Given the description of an element on the screen output the (x, y) to click on. 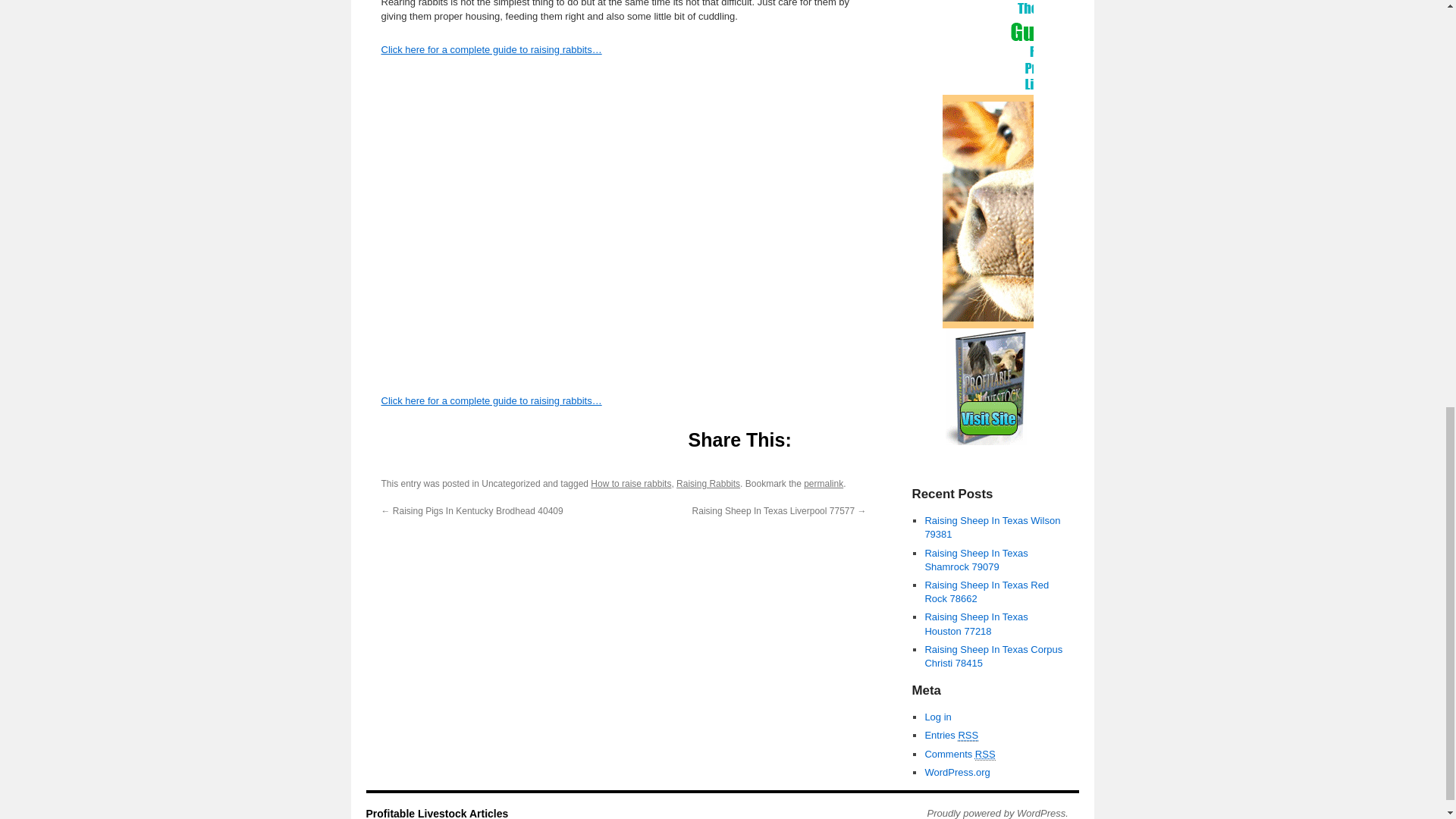
Really Simple Syndication (985, 754)
Raising Rabbits (708, 483)
permalink (823, 483)
Really Simple Syndication (968, 735)
How to raise rabbits (631, 483)
